Given the description of an element on the screen output the (x, y) to click on. 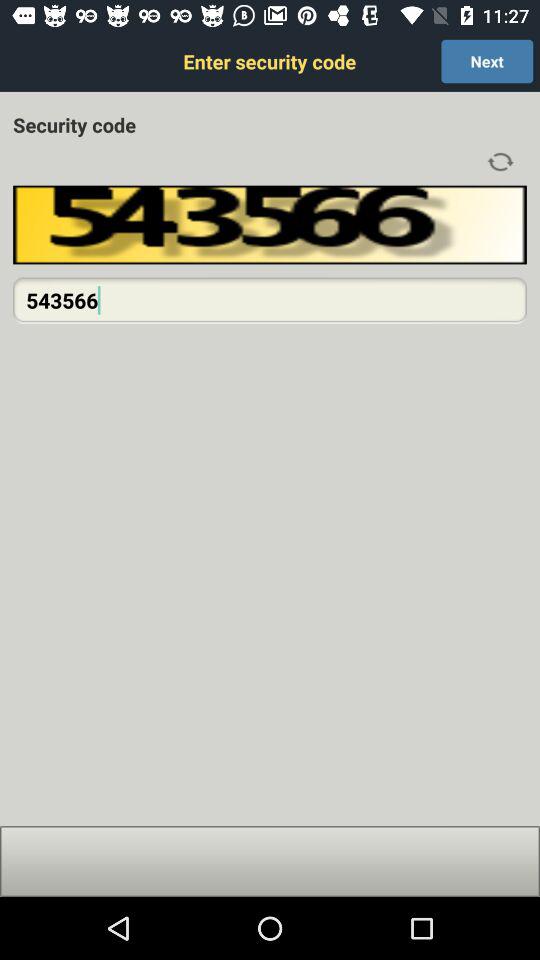
refresh button (500, 161)
